Given the description of an element on the screen output the (x, y) to click on. 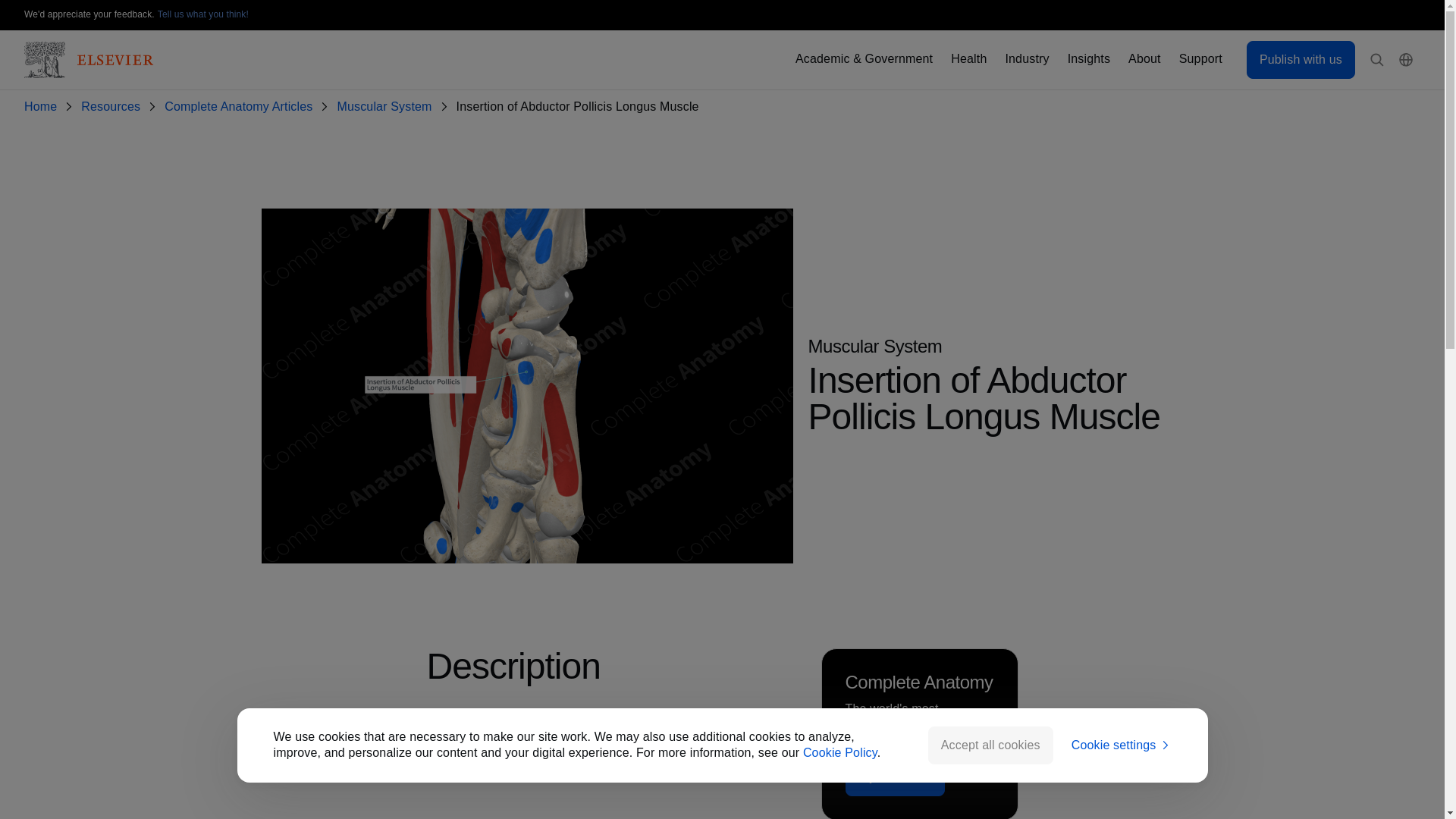
Location Selector (1406, 59)
Try it for Free (894, 777)
Complete Anatomy Articles (241, 107)
Home (43, 107)
Publish with us (1300, 59)
Cookie settings (1121, 745)
Health (968, 59)
Resources (114, 107)
Muscular System (387, 107)
Cookie Policy (840, 752)
